Given the description of an element on the screen output the (x, y) to click on. 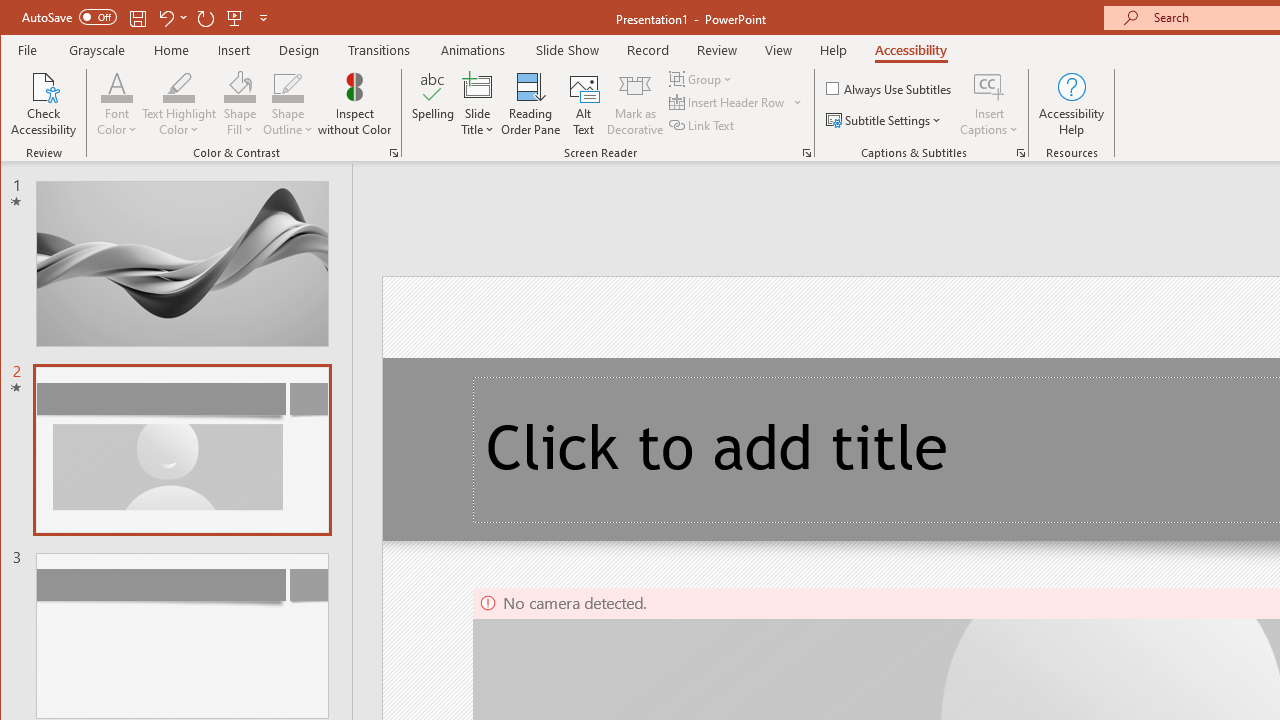
Captions & Subtitles (1020, 152)
Shape Outline (288, 104)
Mark as Decorative (635, 104)
Insert Captions (989, 104)
Spelling... (432, 104)
Slide Title (477, 86)
Grayscale (97, 50)
Accessibility Help (1071, 104)
Insert Header Row (728, 101)
Subtitle Settings (885, 119)
